Given the description of an element on the screen output the (x, y) to click on. 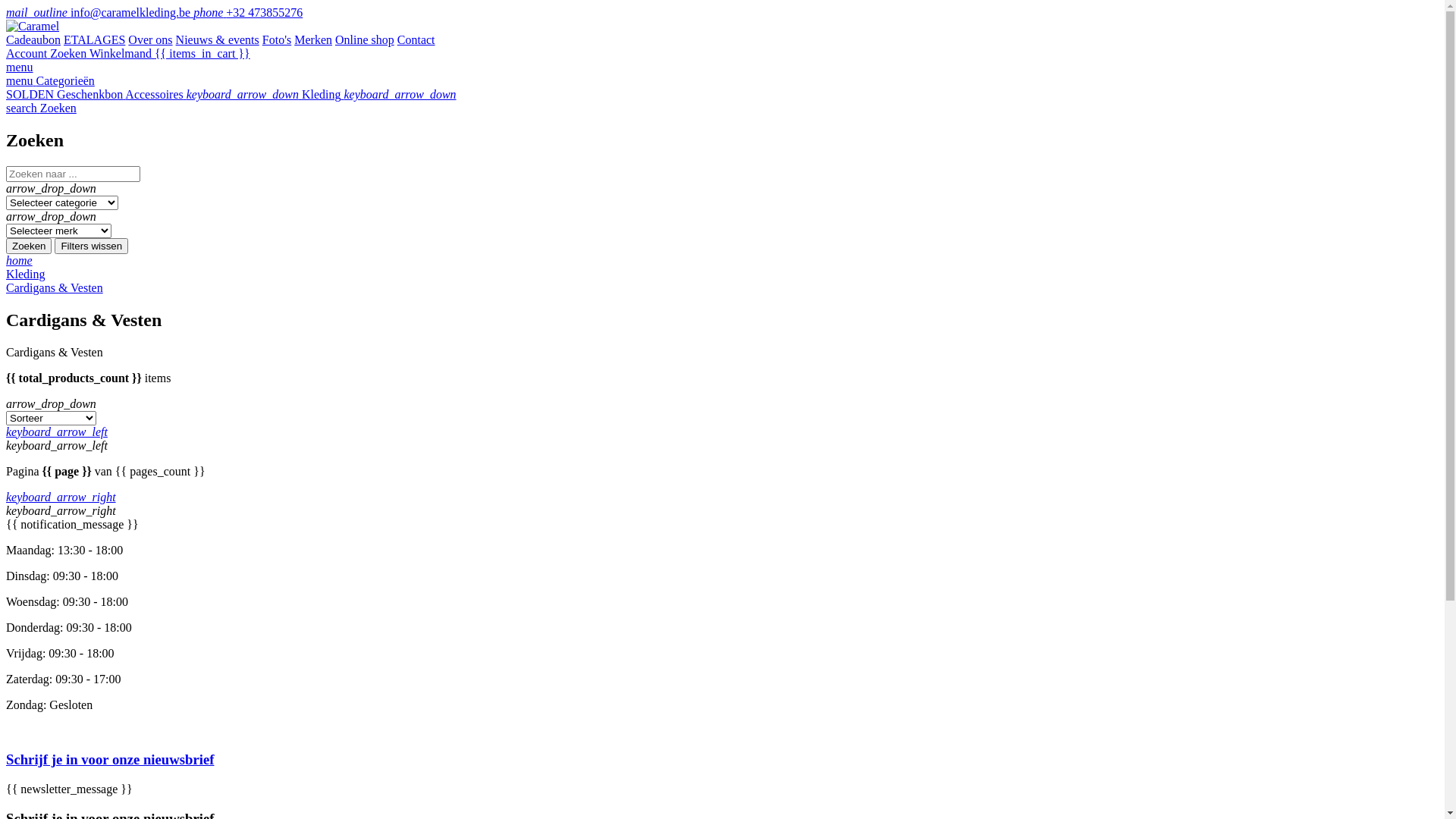
Cadeaubon Element type: text (33, 39)
Accessoires keyboard_arrow_down Element type: text (213, 93)
Nieuws & events Element type: text (217, 39)
Account Element type: text (28, 53)
Zoeken Element type: text (28, 246)
Contact Element type: text (416, 39)
home Element type: text (19, 260)
Kleding keyboard_arrow_down Element type: text (378, 93)
Zoeken Element type: text (69, 53)
Kleding Element type: text (25, 273)
Merken Element type: text (313, 39)
mail_outline info@caramelkleding.be Element type: text (99, 12)
Online shop Element type: text (364, 39)
Geschenkbon Element type: text (90, 93)
Over ons Element type: text (150, 39)
SOLDEN Element type: text (31, 93)
ETALAGES Element type: text (94, 39)
search Zoeken Element type: text (41, 107)
Foto's Element type: text (276, 39)
keyboard_arrow_left Element type: text (56, 431)
Cardigans & Vesten Element type: text (54, 287)
Caramel Element type: hover (32, 25)
Filters wissen Element type: text (91, 246)
menu Element type: text (19, 66)
keyboard_arrow_right Element type: text (61, 496)
Schrijf je in voor onze nieuwsbrief Element type: text (722, 759)
phone +32 473855276 Element type: text (247, 12)
